Given the description of an element on the screen output the (x, y) to click on. 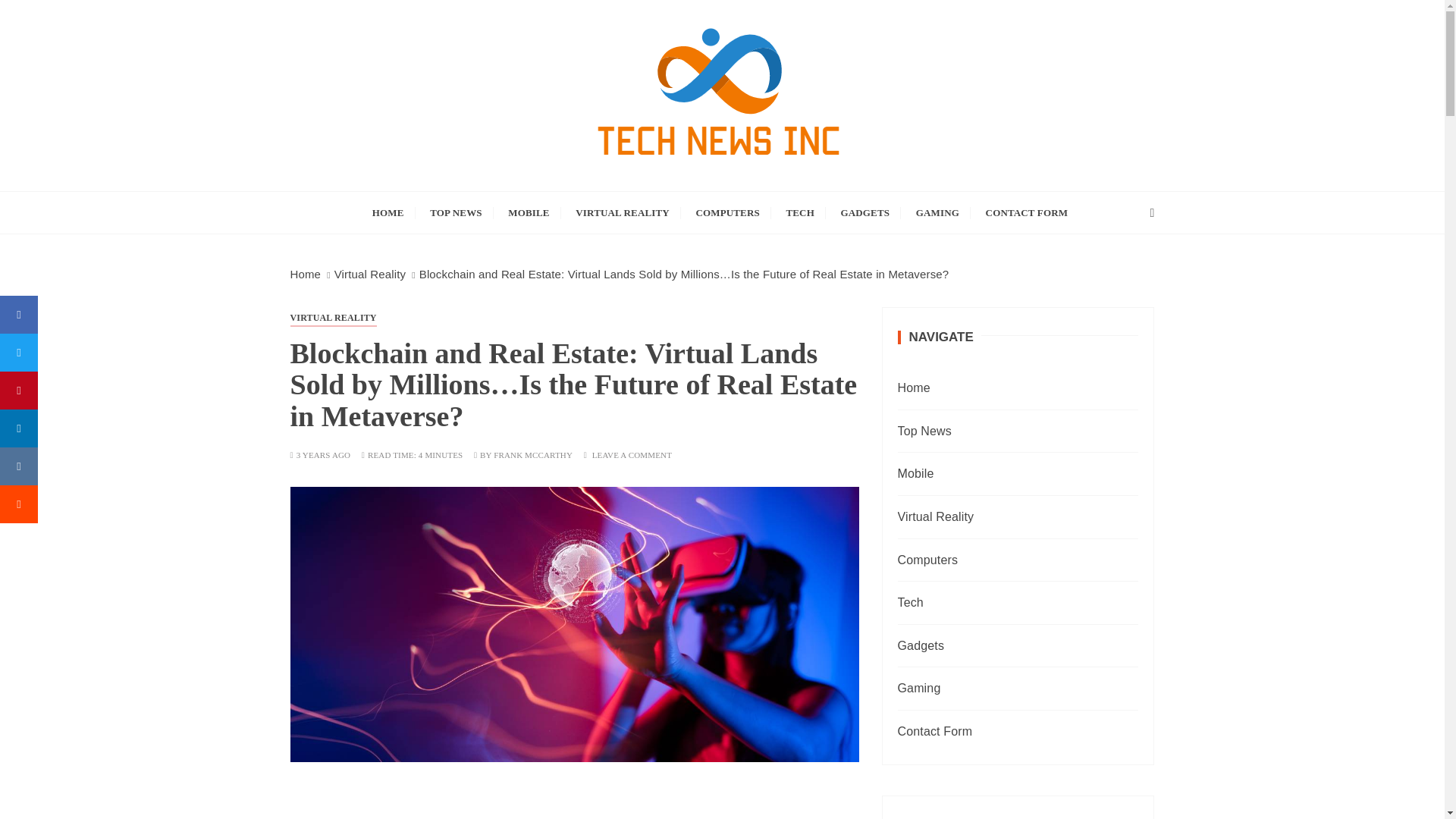
MOBILE (528, 212)
TECH (799, 212)
VIRTUAL REALITY (622, 212)
Advertisement (574, 809)
FRANK MCCARTHY (532, 455)
TOP NEWS (456, 212)
CONTACT FORM (1027, 212)
HOME (387, 212)
Tech News Inc (412, 201)
COMPUTERS (727, 212)
GAMING (937, 212)
LEAVE A COMMENT (631, 455)
GADGETS (865, 212)
VIRTUAL REALITY (332, 317)
Virtual Reality (370, 273)
